Given the description of an element on the screen output the (x, y) to click on. 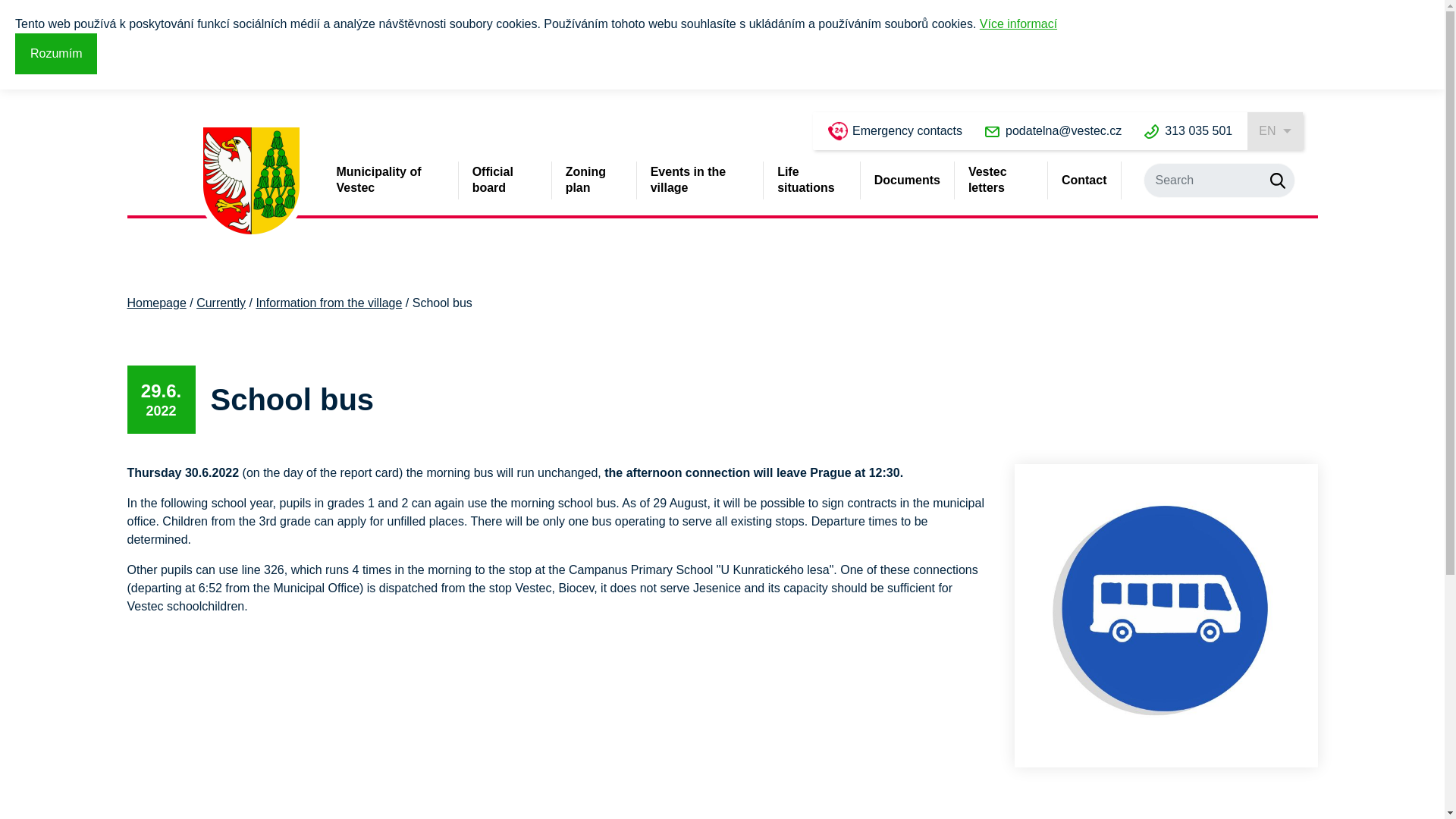
Life situations (811, 180)
Official website of the Municipality of Vestec (251, 180)
Municipality of Vestec (389, 180)
Zoning plan (593, 180)
Life situations (811, 180)
Official board (504, 180)
Events in the village (699, 180)
EN (1274, 130)
313 035 501 (1187, 130)
Zoning plan (593, 180)
Official board (504, 180)
Emergency contacts (895, 130)
Documents (906, 180)
Municipality of Vestec (389, 180)
Events in the village (699, 180)
